Given the description of an element on the screen output the (x, y) to click on. 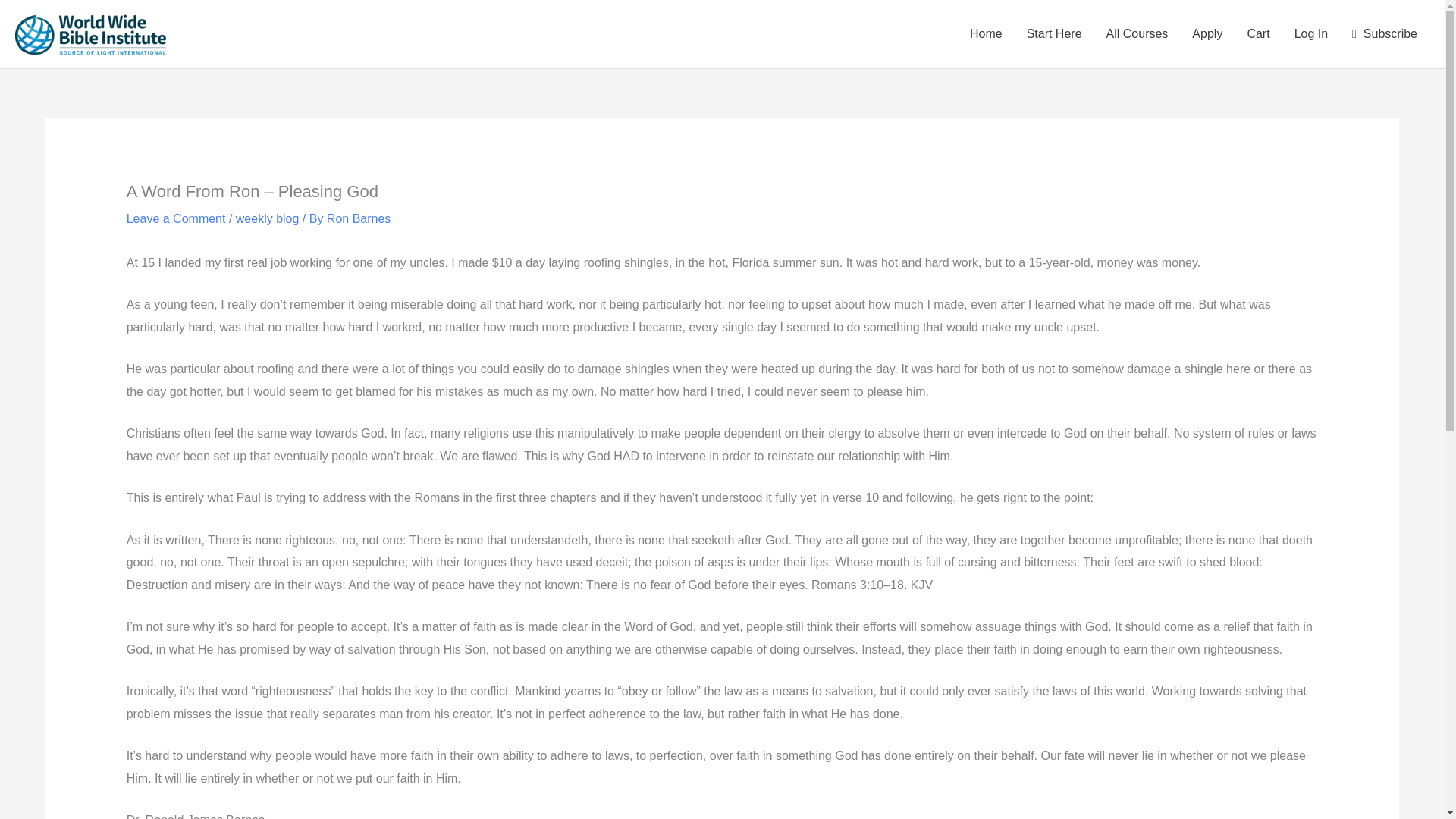
Start Here (1054, 33)
Log In (1310, 33)
View all posts by Ron Barnes (358, 218)
  Subscribe (1384, 33)
Cart (1257, 33)
All Courses (1137, 33)
Subscribe to our YouTube channel (1384, 33)
weekly blog (267, 218)
Ron Barnes (358, 218)
Apply (1206, 33)
Home (986, 33)
Leave a Comment (175, 218)
